Given the description of an element on the screen output the (x, y) to click on. 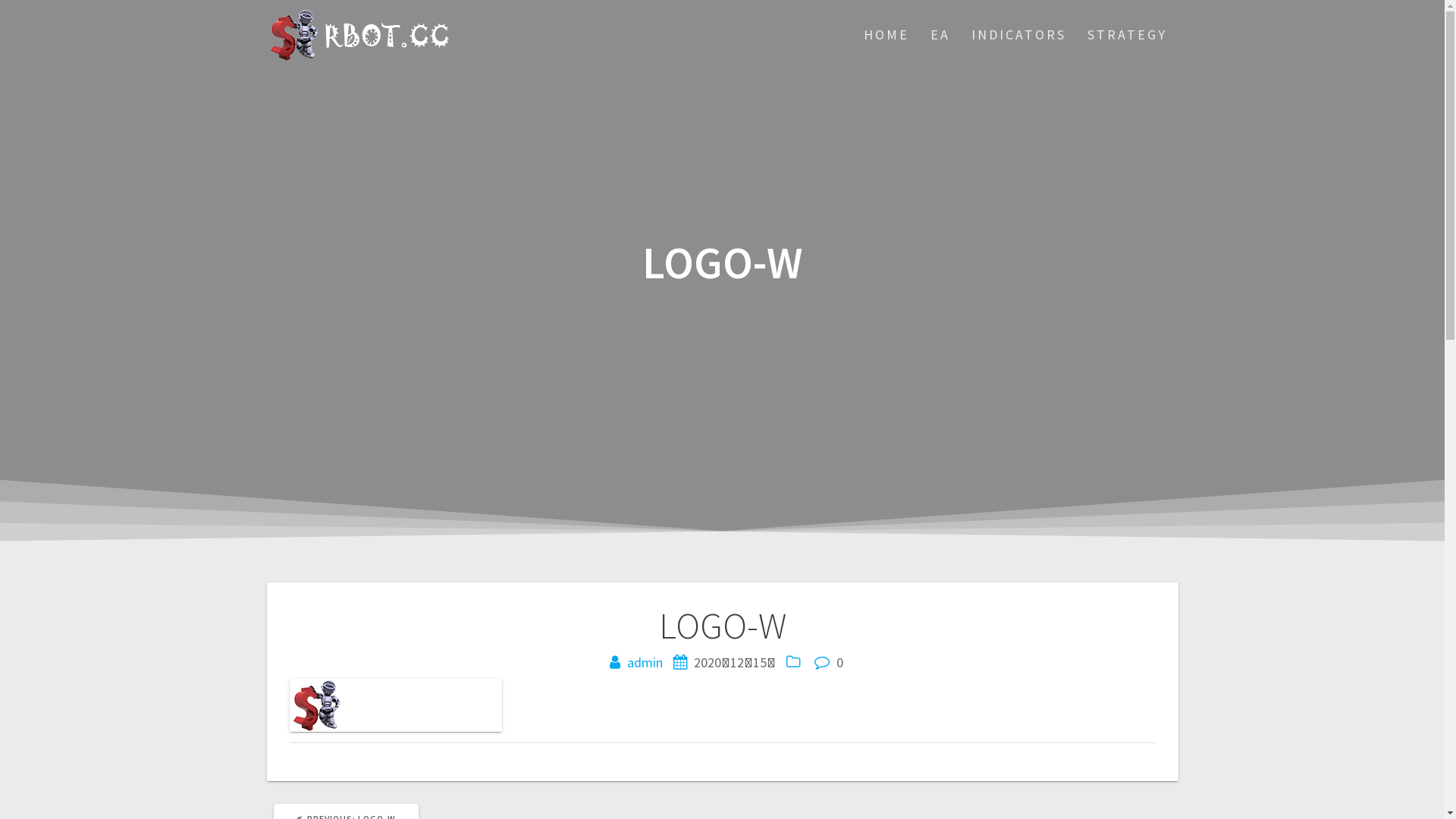
EA Element type: text (940, 34)
HOME Element type: text (886, 34)
admin Element type: text (644, 662)
STRATEGY Element type: text (1127, 34)
INDICATORS Element type: text (1018, 34)
